Given the description of an element on the screen output the (x, y) to click on. 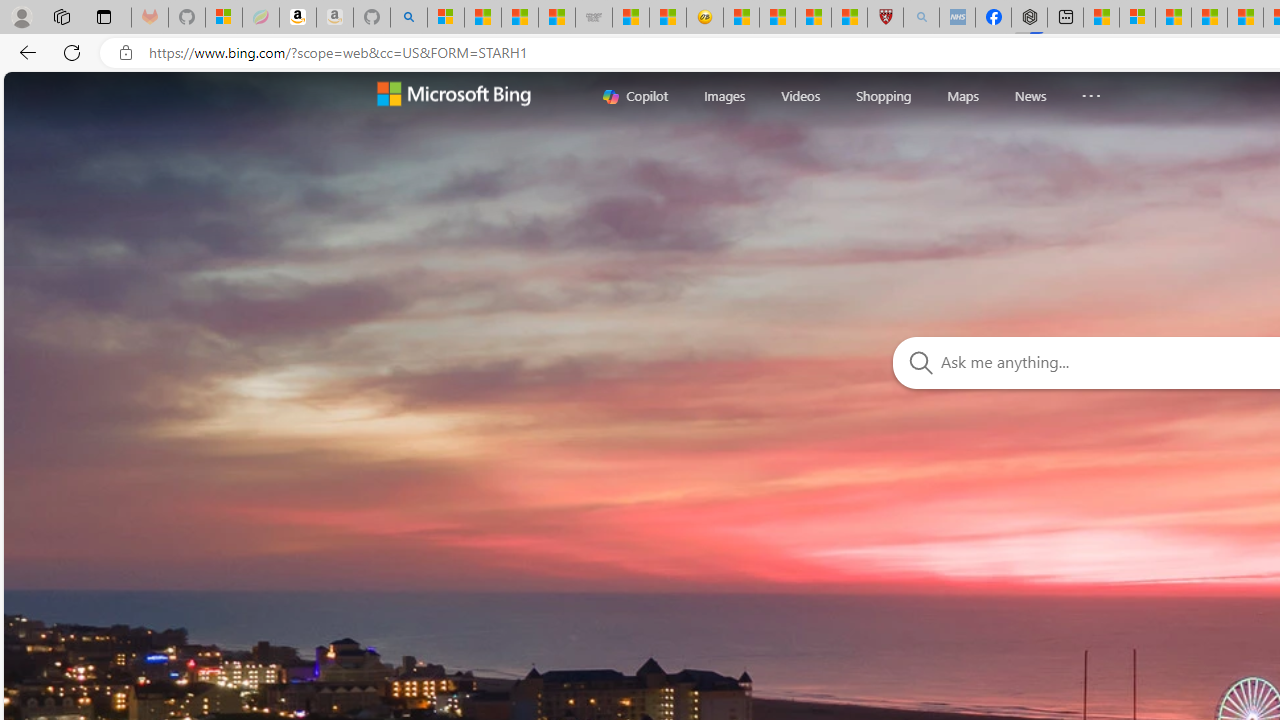
Images (725, 95)
Class: scopes  (868, 95)
Robert H. Shmerling, MD - Harvard Health (884, 17)
